Given the description of an element on the screen output the (x, y) to click on. 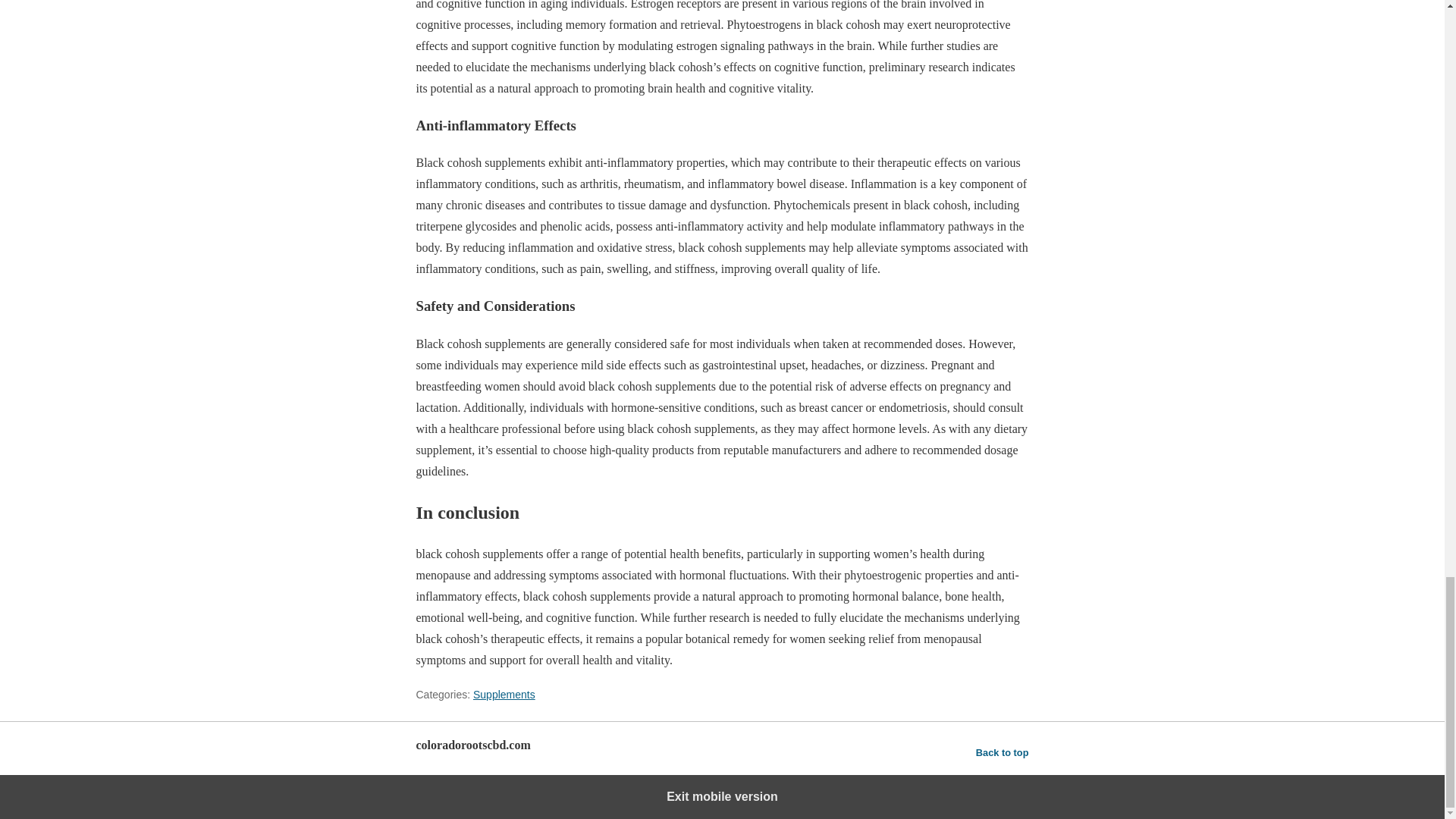
Supplements (504, 694)
Back to top (1002, 752)
